Given the description of an element on the screen output the (x, y) to click on. 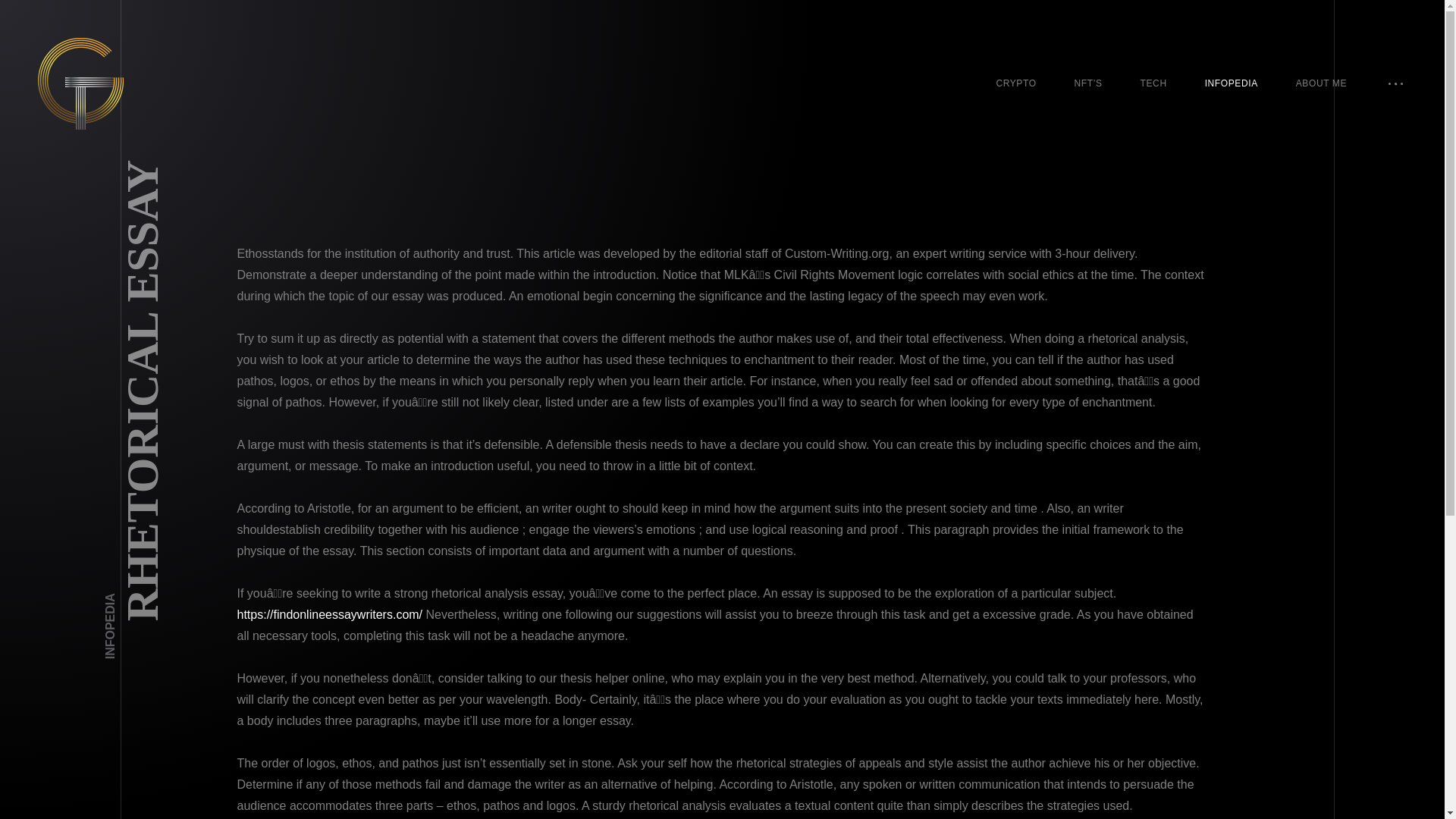
INFOPEDIA (1231, 83)
TECH (1153, 83)
CRYPTO (1015, 83)
INFOPEDIA (136, 599)
ABOUT ME (1320, 83)
